Given the description of an element on the screen output the (x, y) to click on. 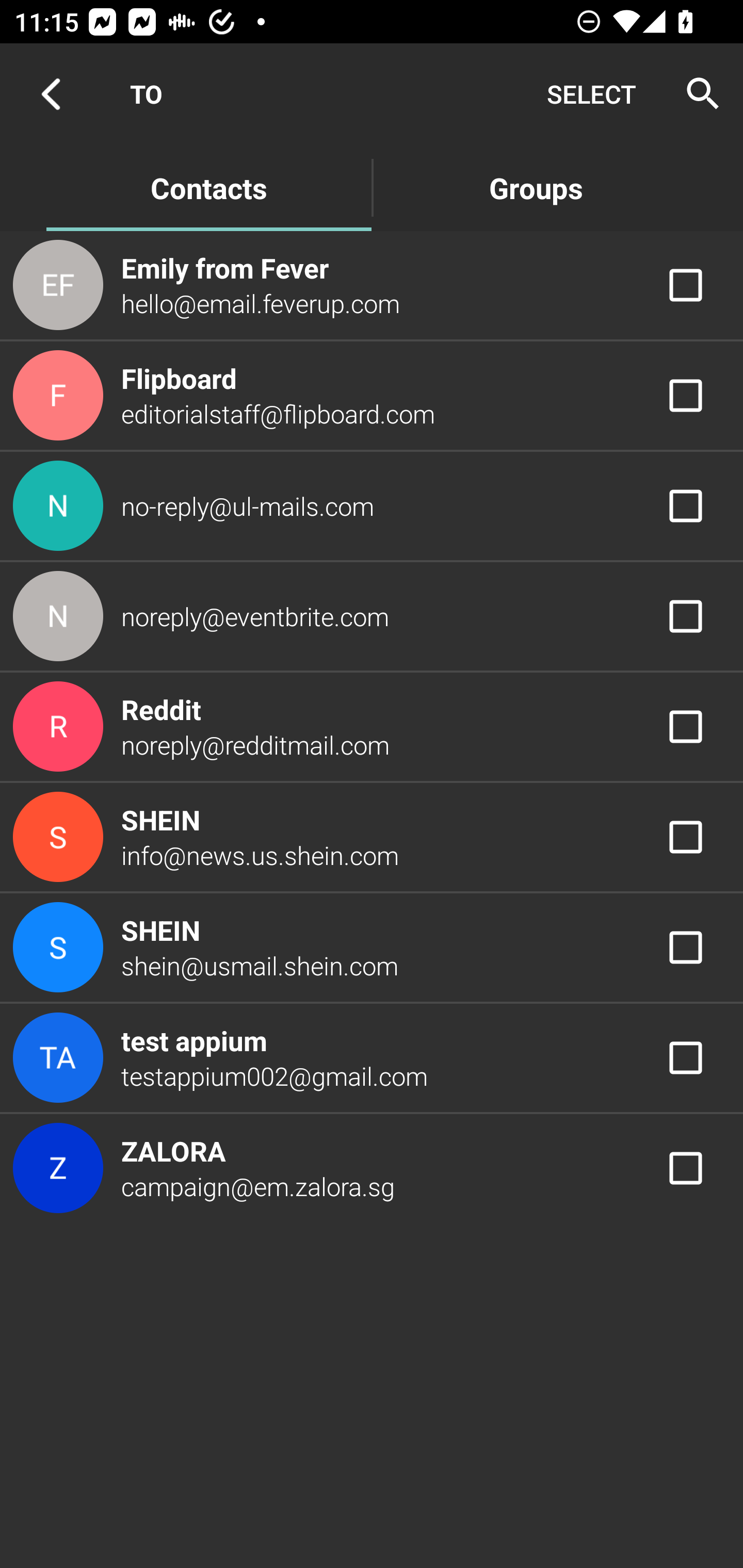
Navigate up (50, 93)
SELECT (590, 93)
Search (696, 93)
Contacts (208, 187)
Groups (535, 187)
Emily from Fever hello@email.feverup.com (371, 284)
Flipboard editorialstaff@flipboard.com (371, 395)
no-reply@ul-mails.com (371, 505)
noreply@eventbrite.com (371, 616)
Reddit noreply@redditmail.com (371, 726)
SHEIN info@news.us.shein.com (371, 836)
SHEIN shein@usmail.shein.com (371, 947)
test appium testappium002@gmail.com (371, 1057)
ZALORA campaign@em.zalora.sg (371, 1168)
